Given the description of an element on the screen output the (x, y) to click on. 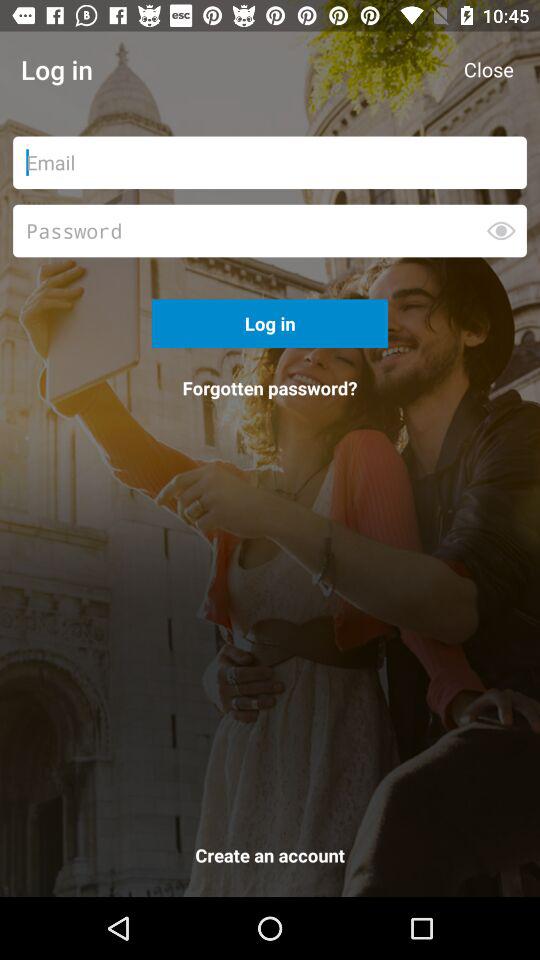
launch icon to the right of the log in item (488, 69)
